Given the description of an element on the screen output the (x, y) to click on. 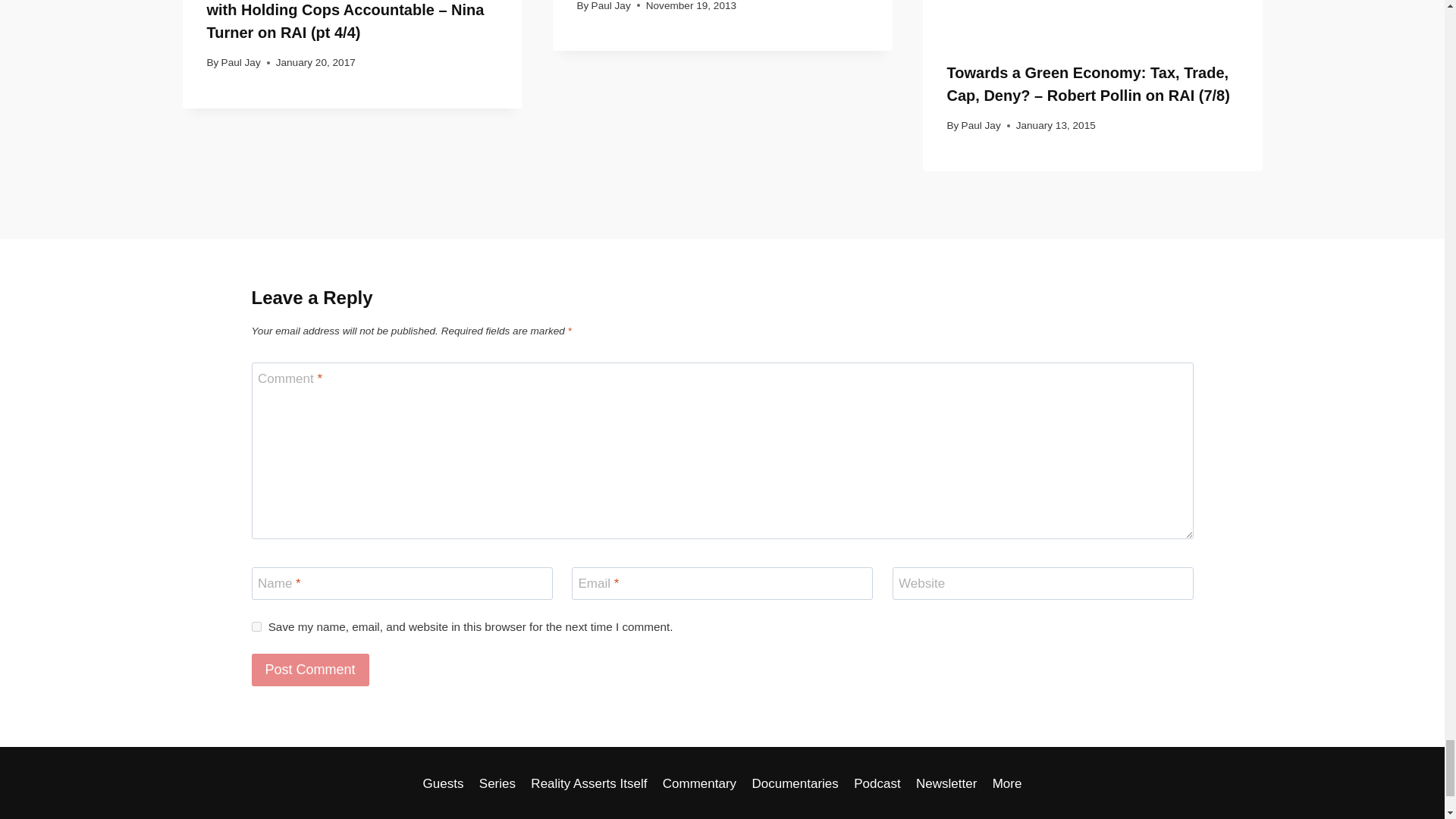
yes (256, 626)
Post Comment (310, 669)
